Given the description of an element on the screen output the (x, y) to click on. 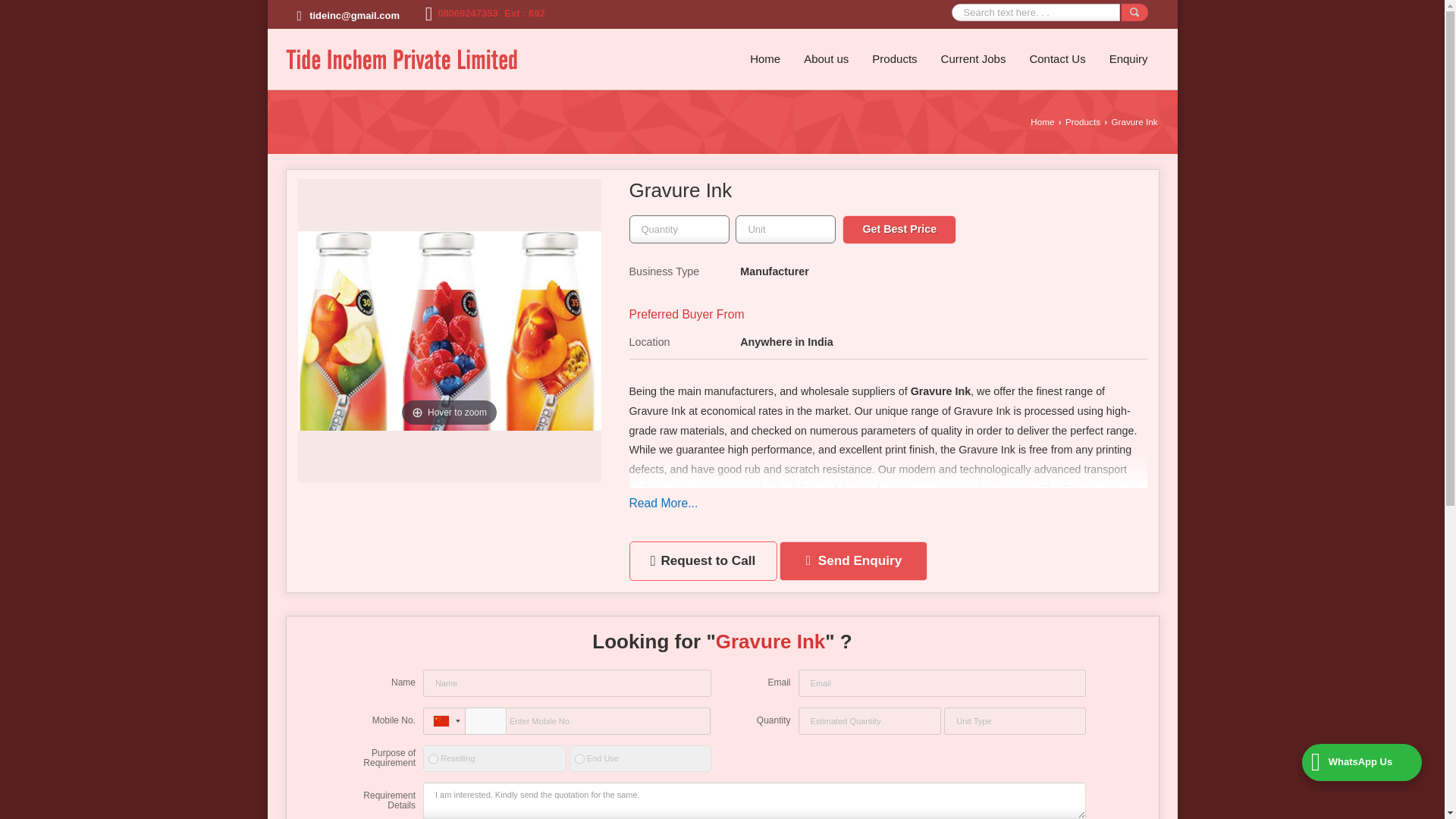
Tide Inchem Private Limited (400, 59)
Read More... (663, 503)
Home (765, 59)
Read More... (663, 503)
Tide Inchem Private Limited (400, 58)
Home (765, 59)
About us (826, 59)
Gravure Ink (448, 330)
About us (826, 59)
Request to Call (702, 560)
